Given the description of an element on the screen output the (x, y) to click on. 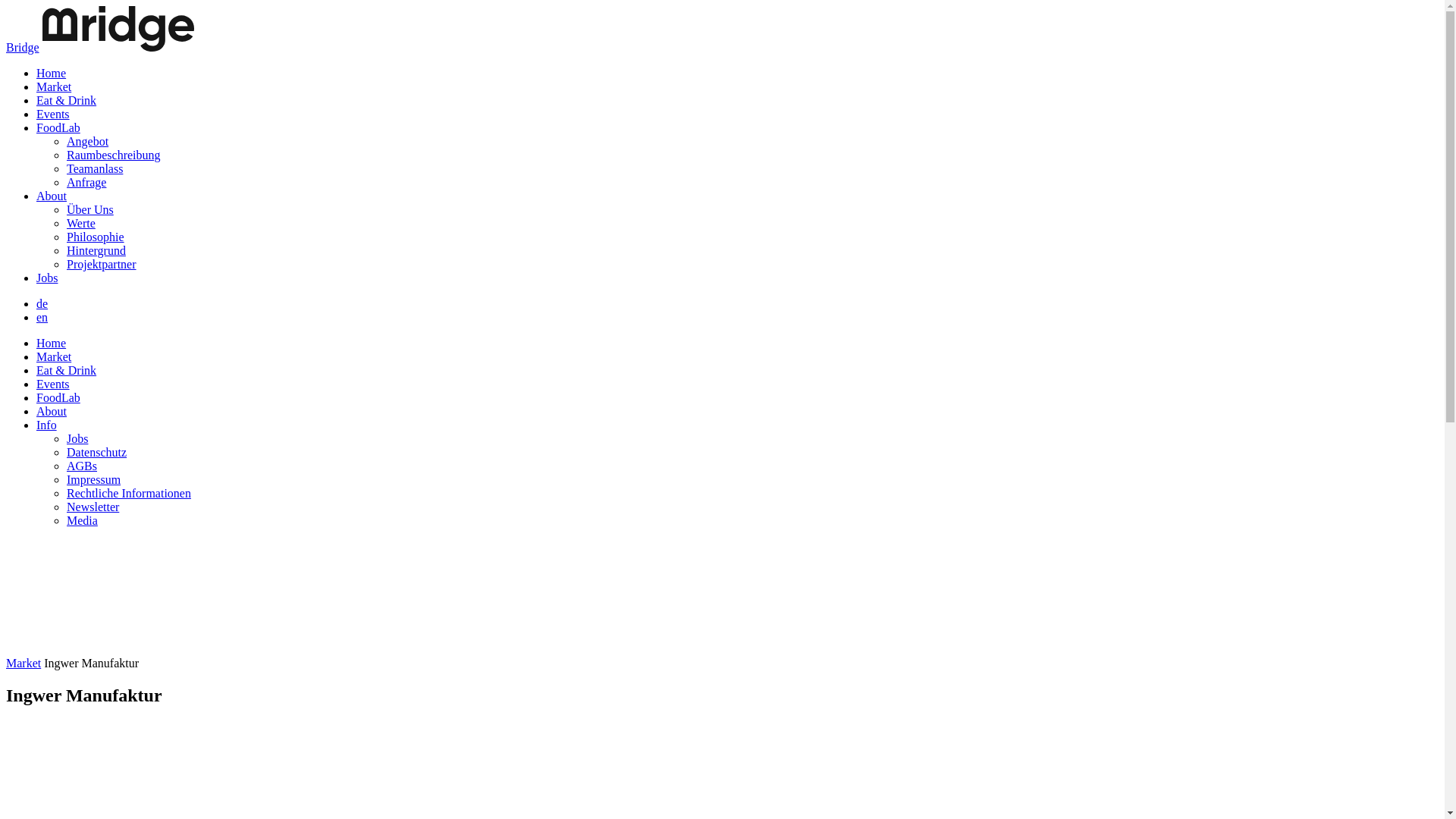
Market Element type: text (53, 356)
Media Element type: text (81, 520)
Projektpartner Element type: text (101, 263)
Bridge Element type: text (22, 46)
Home Element type: text (50, 342)
AGBs Element type: text (81, 465)
Events Element type: text (52, 113)
Angebot Element type: text (87, 140)
FoodLab Element type: text (58, 397)
Datenschutz Element type: text (96, 451)
Market Element type: text (23, 662)
Hintergrund Element type: text (95, 250)
Jobs Element type: text (76, 438)
Teamanlass Element type: text (94, 168)
Eat & Drink Element type: text (66, 100)
About Element type: text (51, 410)
Events Element type: text (52, 383)
Jobs Element type: text (46, 277)
Eat & Drink Element type: text (66, 370)
Raumbeschreibung Element type: text (113, 154)
Rechtliche Informationen Element type: text (128, 492)
de Element type: text (41, 303)
Impressum Element type: text (93, 479)
FoodLab Element type: text (58, 127)
Philosophie Element type: text (95, 236)
Anfrage Element type: text (86, 181)
Info Element type: text (46, 424)
Newsletter Element type: text (92, 506)
Market Element type: text (53, 86)
Werte Element type: text (80, 222)
en Element type: text (41, 316)
Home Element type: text (50, 72)
About Element type: text (51, 195)
